Given the description of an element on the screen output the (x, y) to click on. 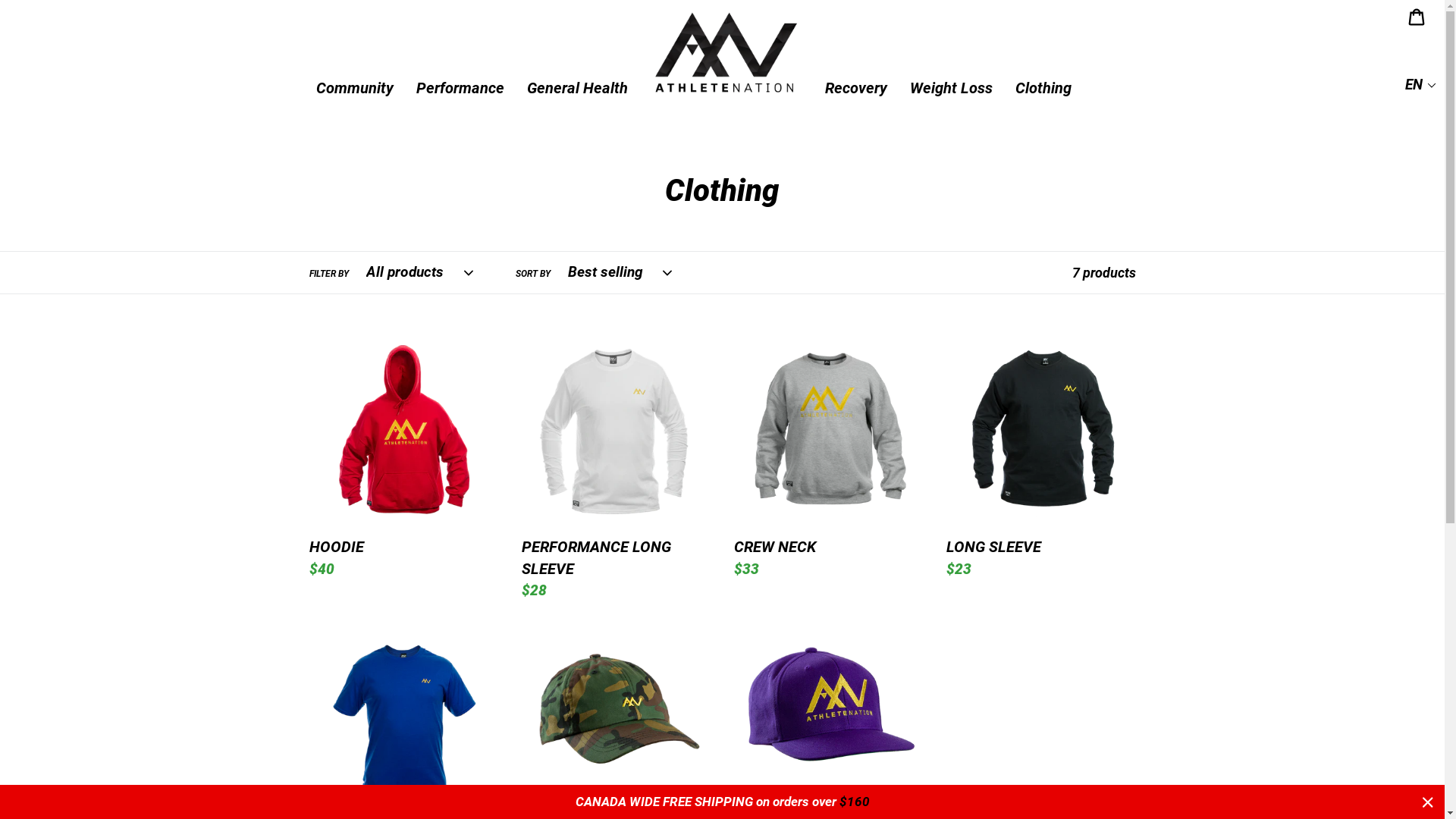
Weight Loss Element type: text (950, 87)
Cart Element type: text (1417, 14)
Submit Element type: text (1417, 86)
Community Element type: text (354, 87)
General Health Element type: text (577, 87)
Performance Element type: text (459, 87)
PERFORMANCE LONG SLEEVE Element type: text (616, 468)
CREW NECK Element type: text (828, 457)
HOODIE Element type: text (403, 457)
Clothing Element type: text (1042, 87)
Recovery Element type: text (855, 87)
LONG SLEEVE Element type: text (1040, 457)
